Given the description of an element on the screen output the (x, y) to click on. 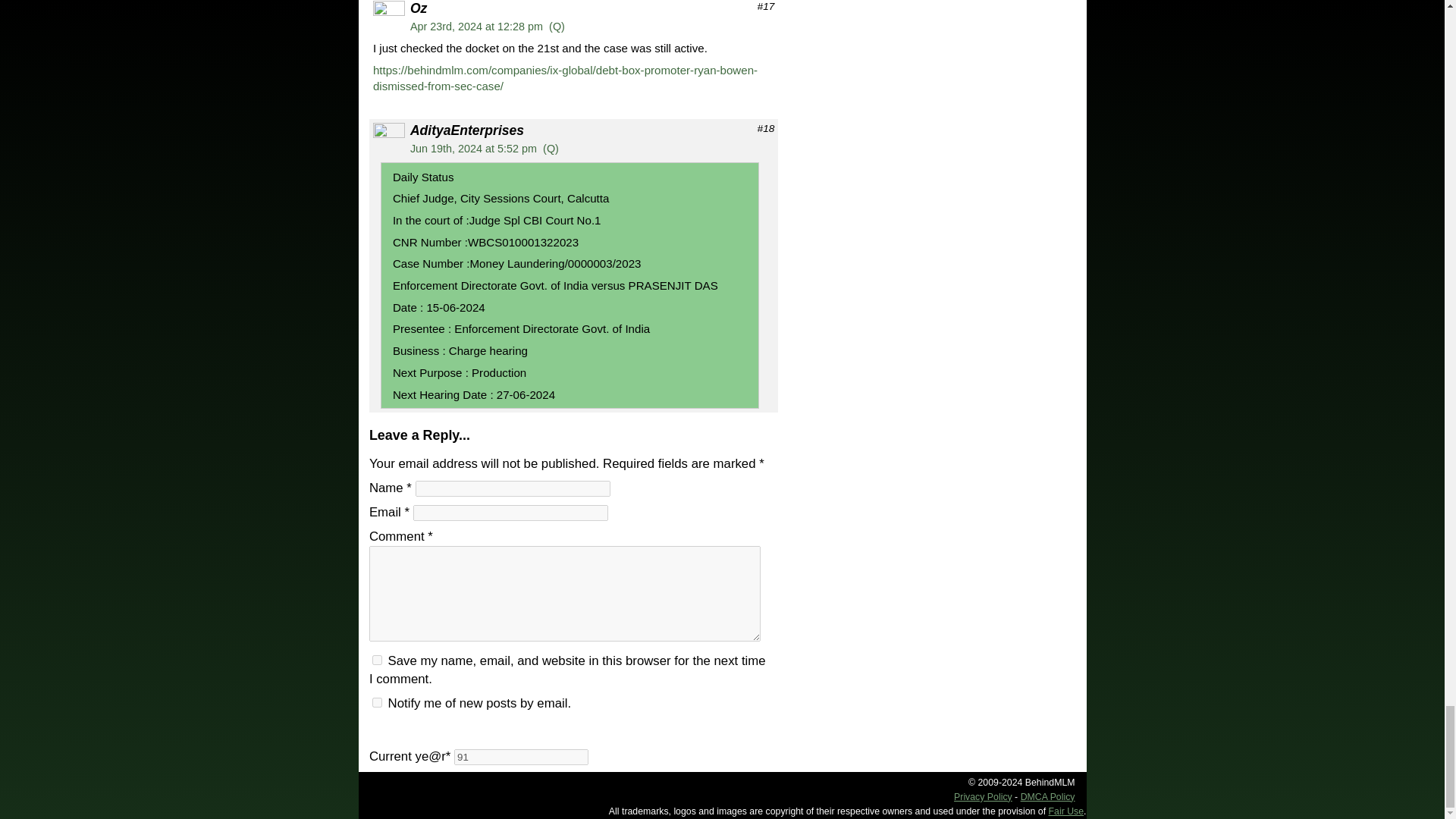
subscribe (376, 702)
91 (521, 756)
yes (376, 660)
